Given the description of an element on the screen output the (x, y) to click on. 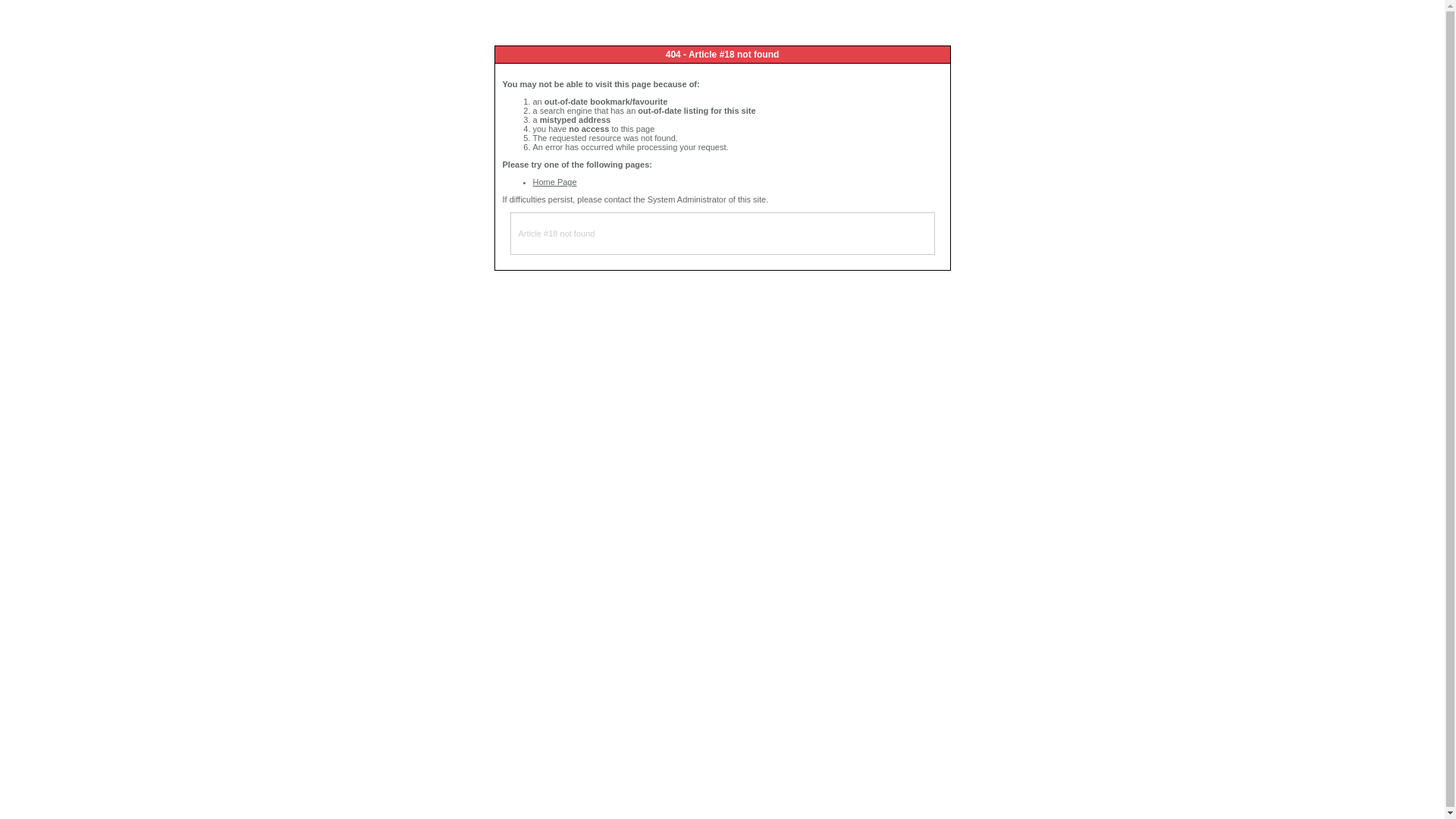
Home Page Element type: text (554, 181)
